Given the description of an element on the screen output the (x, y) to click on. 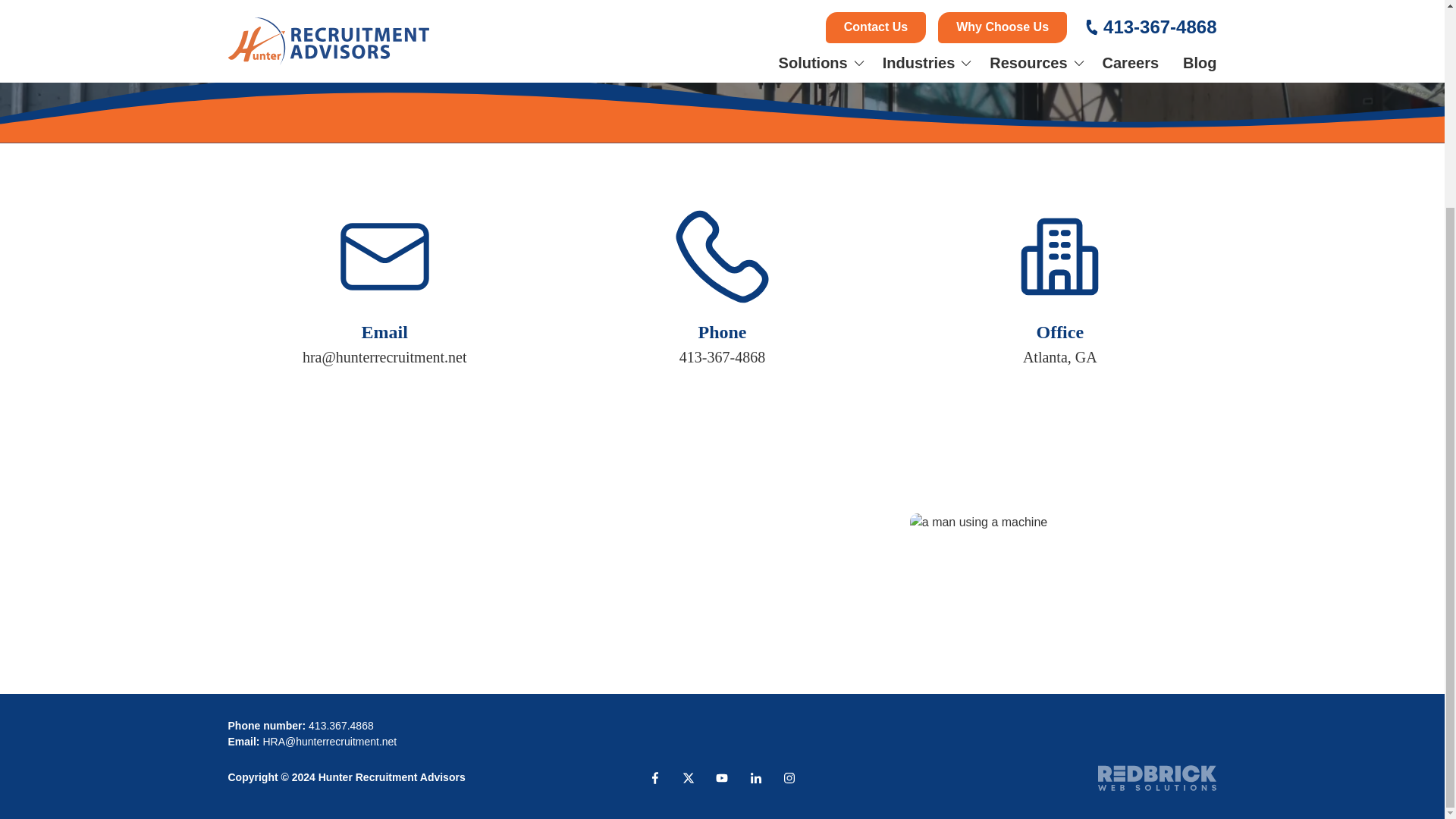
YouTube (721, 777)
Instagram (789, 777)
LinkedIn (756, 777)
Facebook (654, 777)
